Given the description of an element on the screen output the (x, y) to click on. 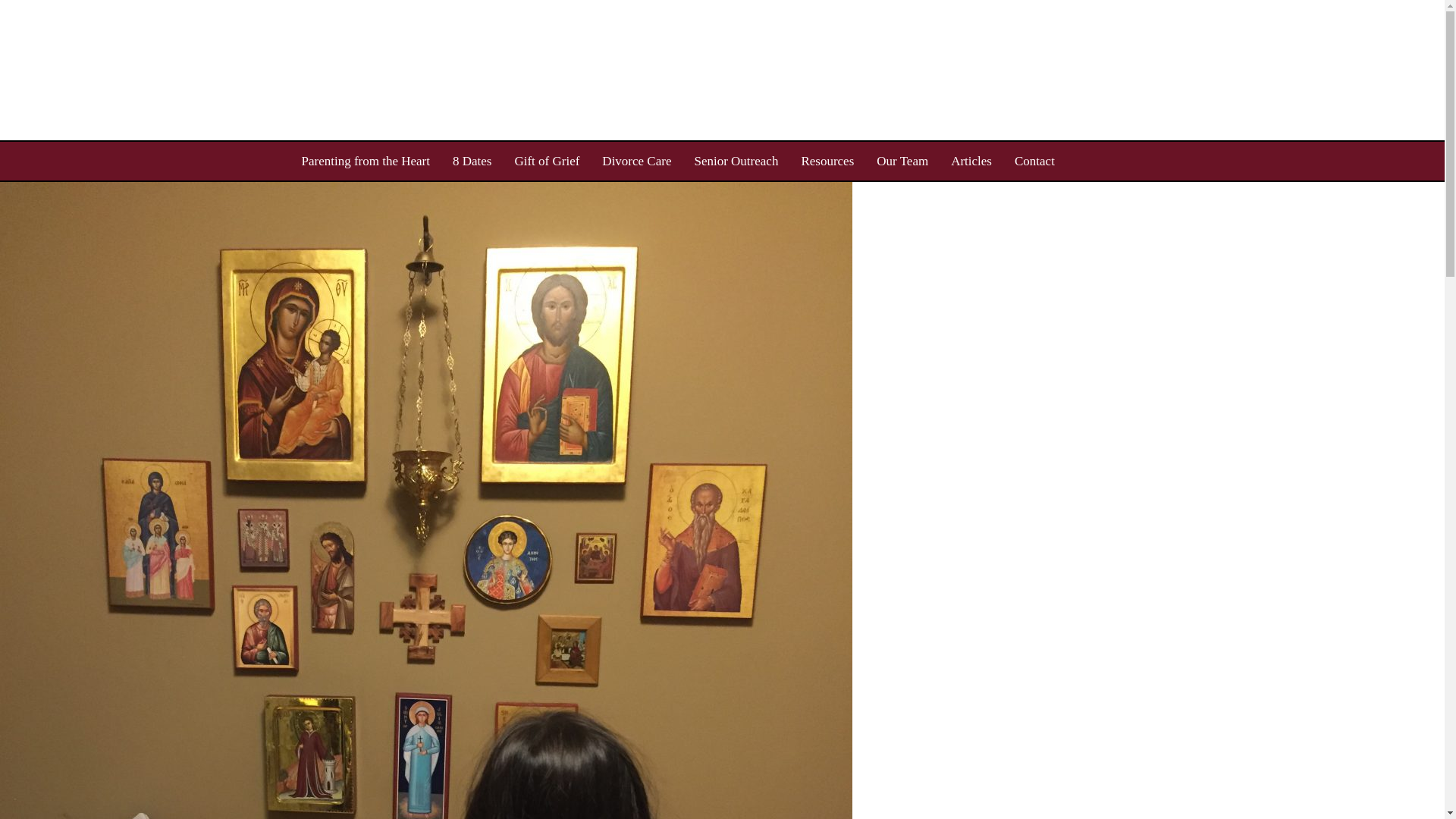
Senior Outreach (735, 160)
Parenting from the Heart (365, 160)
Our Team (901, 160)
Divorce Care (636, 160)
Articles (971, 160)
8 Dates (471, 160)
Contact (1034, 160)
Resources (826, 160)
Gift of Grief (546, 160)
